Given the description of an element on the screen output the (x, y) to click on. 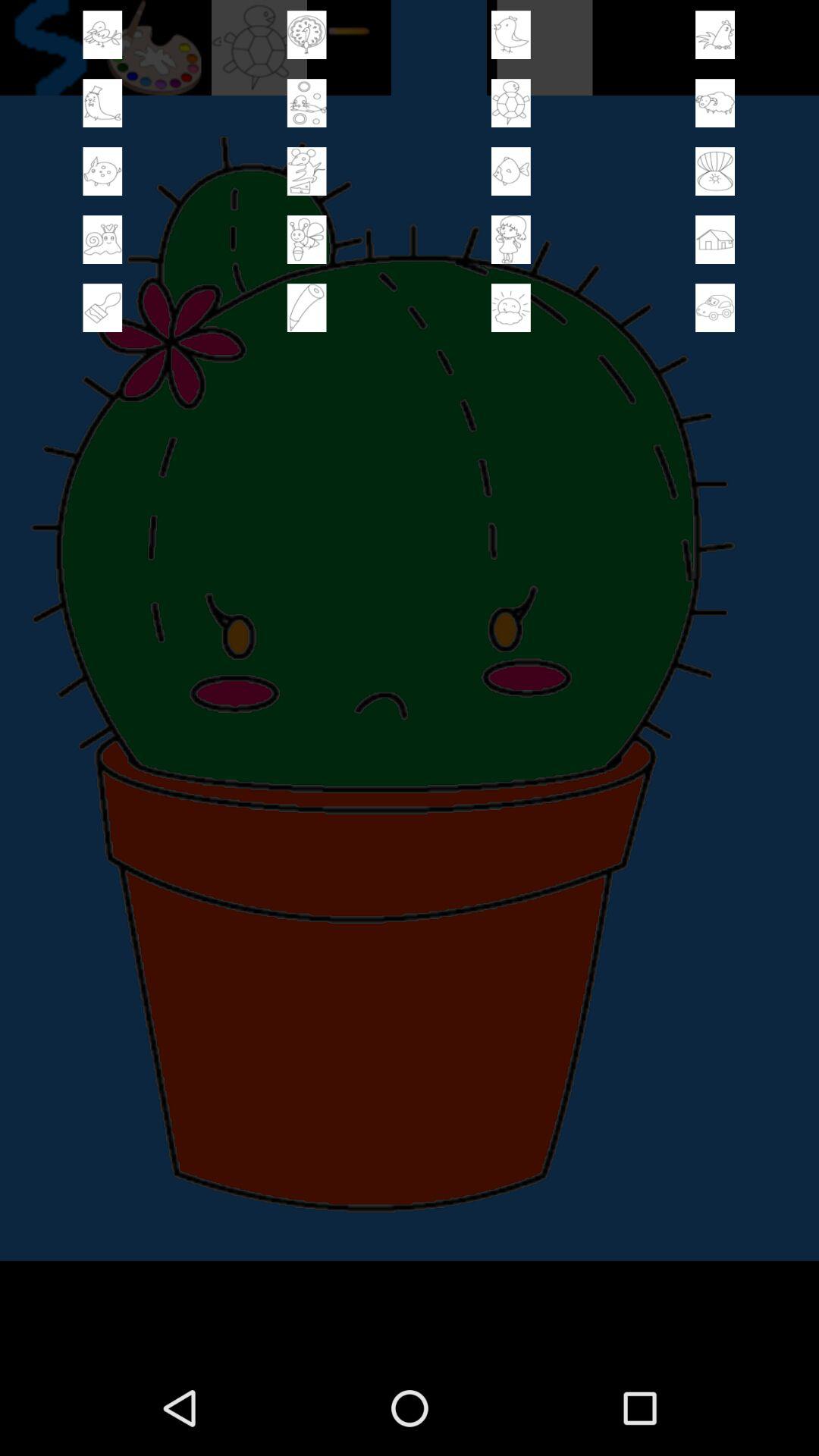
add stamp (715, 103)
